Given the description of an element on the screen output the (x, y) to click on. 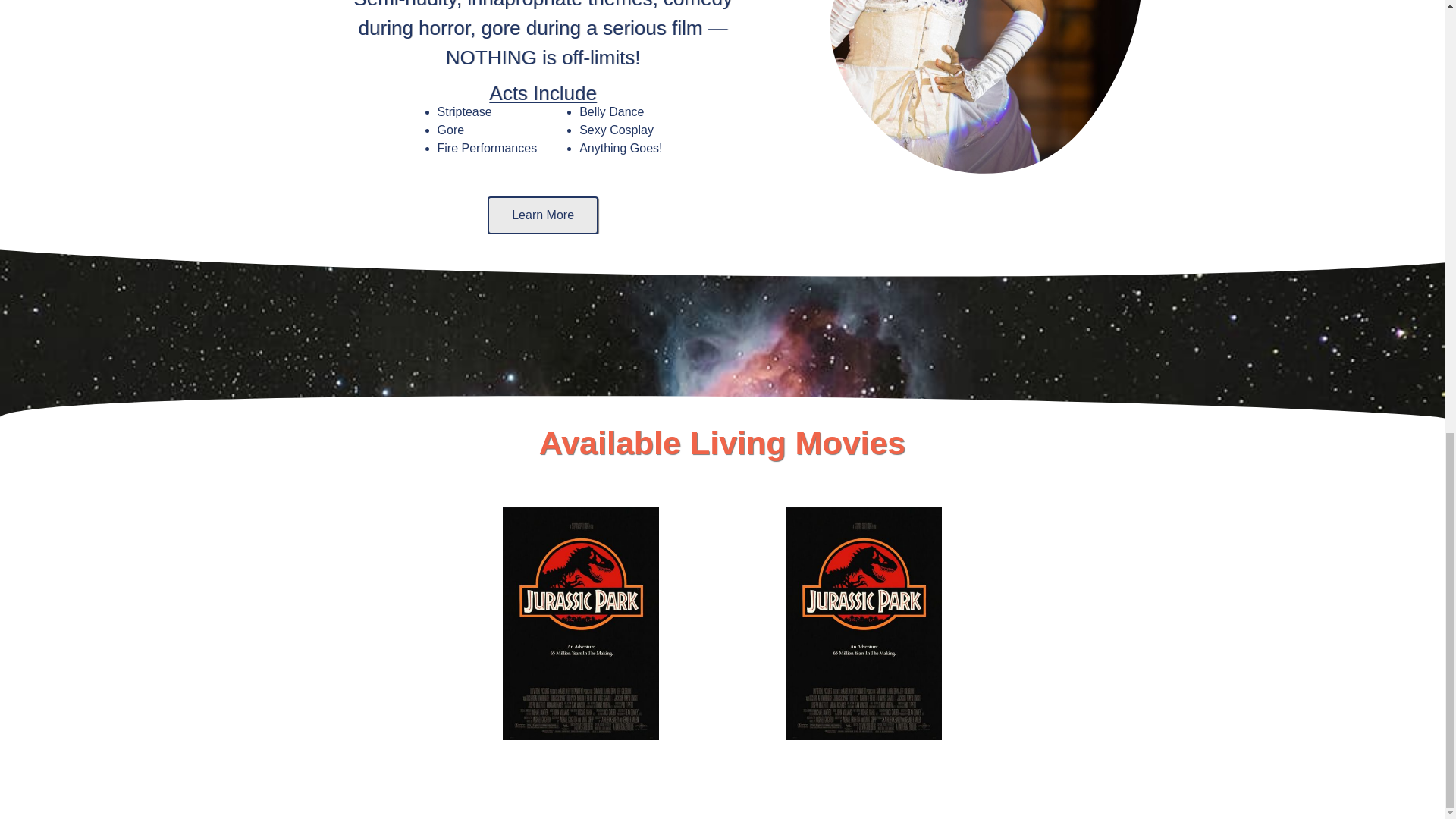
Learn More (542, 215)
Click Here (580, 545)
Click Here (864, 545)
kelly-MistyWinter-8170 (973, 96)
